Given the description of an element on the screen output the (x, y) to click on. 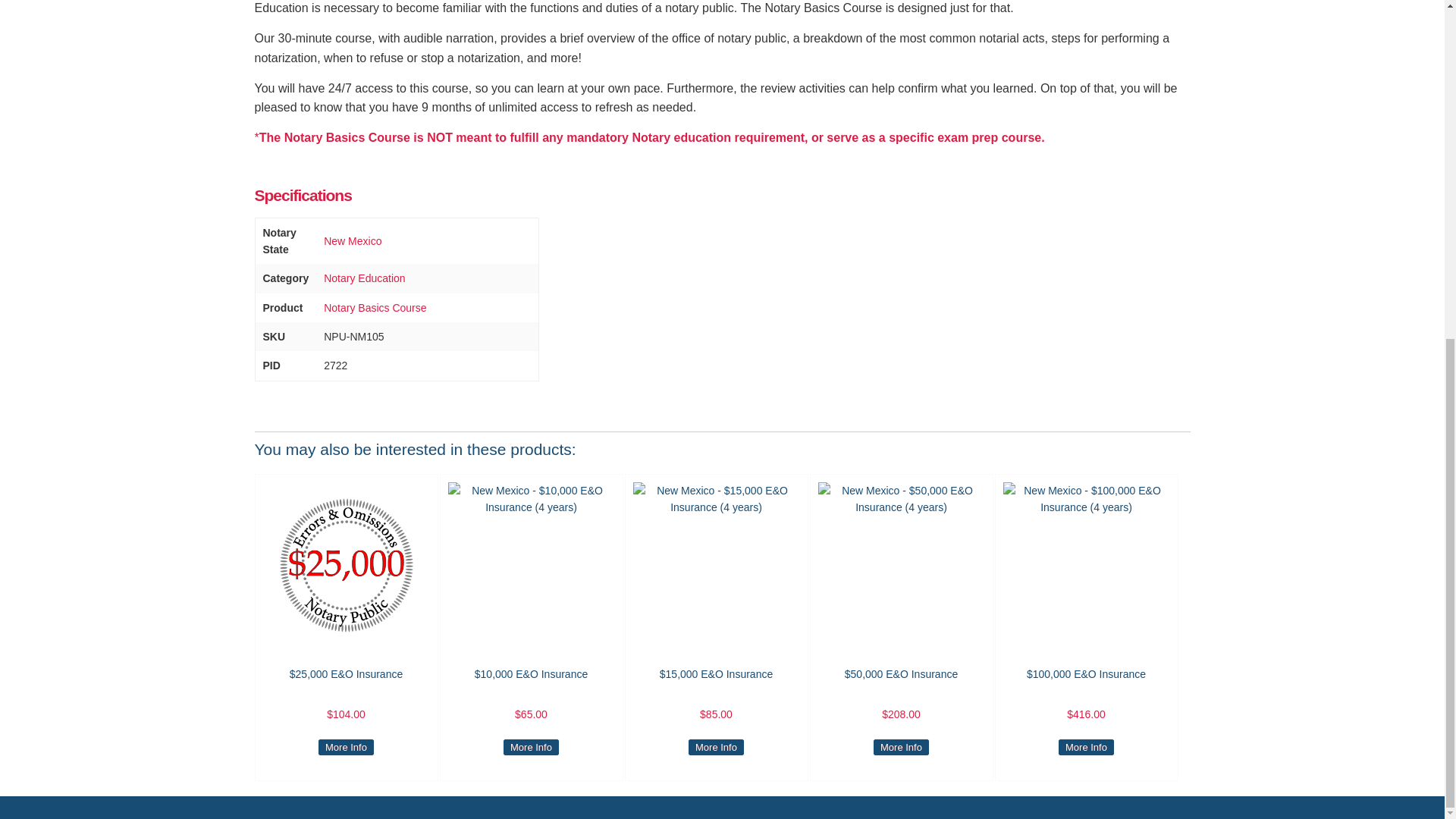
Notary Education (363, 277)
New Mexico Notary Public Supplies (352, 241)
Notary Basics Course (374, 307)
